Given the description of an element on the screen output the (x, y) to click on. 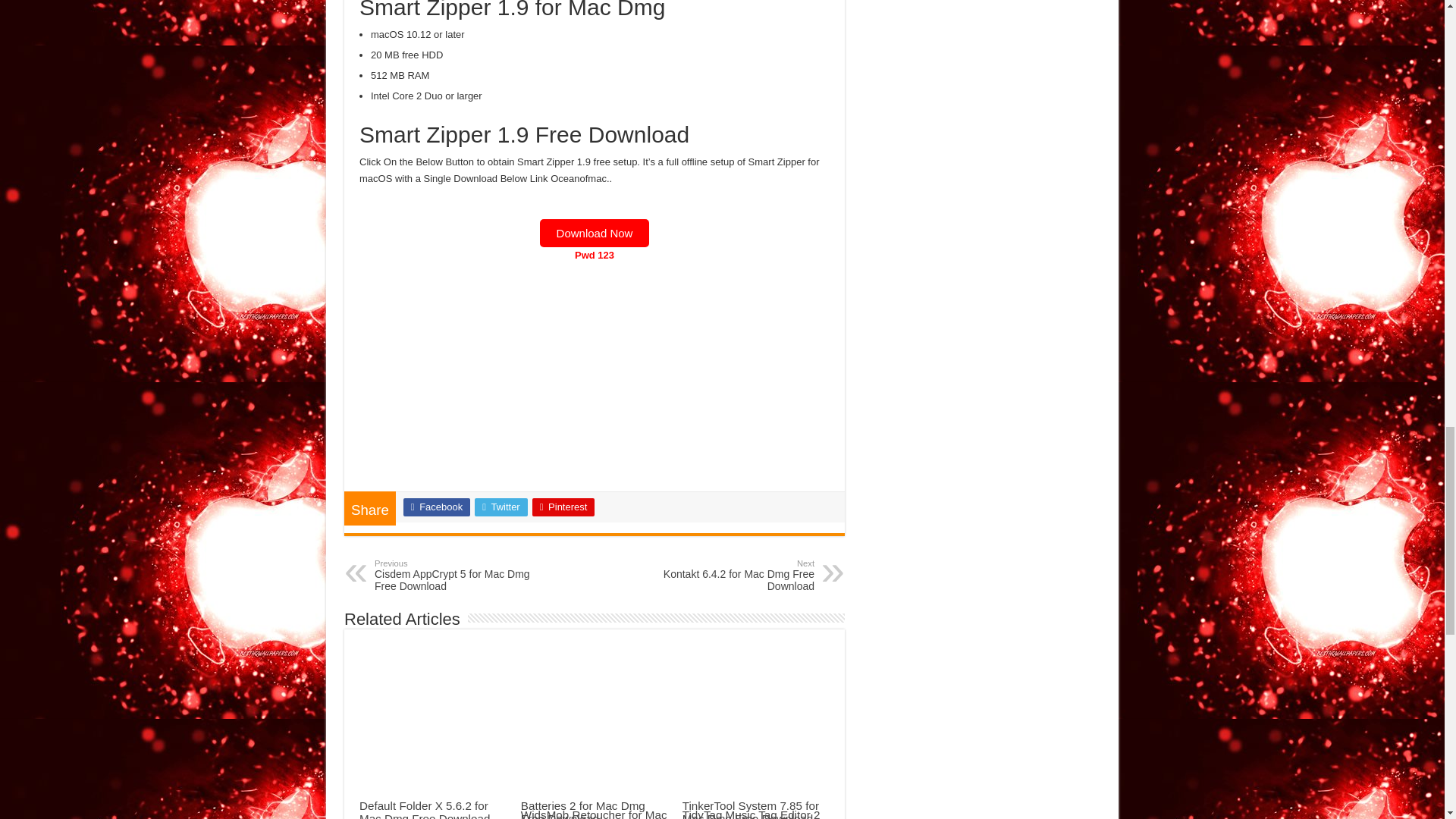
Batteries 2 for Mac Dmg Free Download (583, 809)
Default Folder X 5.6.2 for Mac Dmg Free Download (424, 809)
Facebook (436, 506)
TinkerTool System 7.85 for Mac Dmg Free Download (750, 809)
Advertisement (594, 377)
Twitter (736, 575)
Download Now (500, 506)
